Given the description of an element on the screen output the (x, y) to click on. 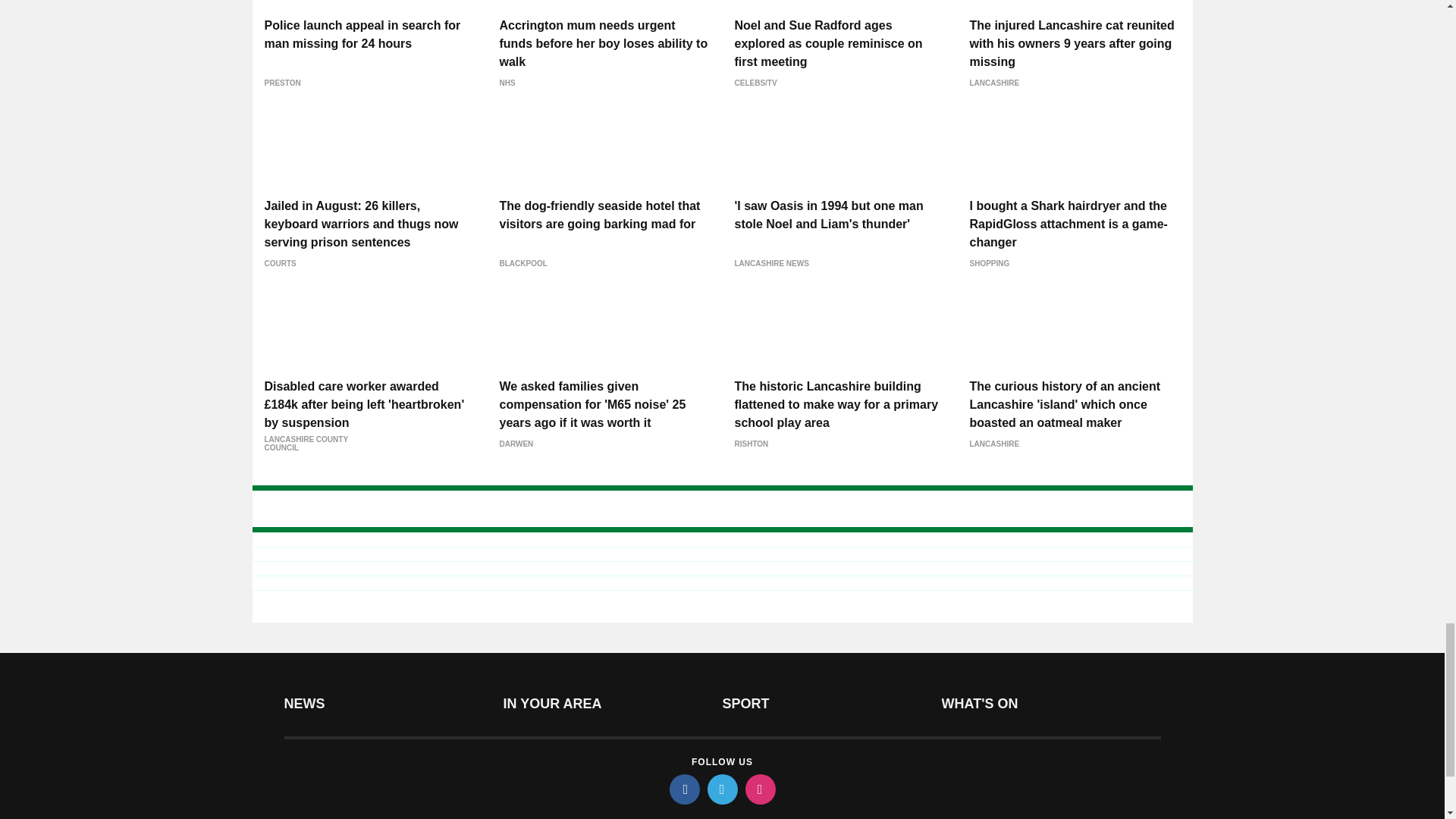
facebook (683, 788)
instagram (759, 788)
twitter (721, 788)
